Given the description of an element on the screen output the (x, y) to click on. 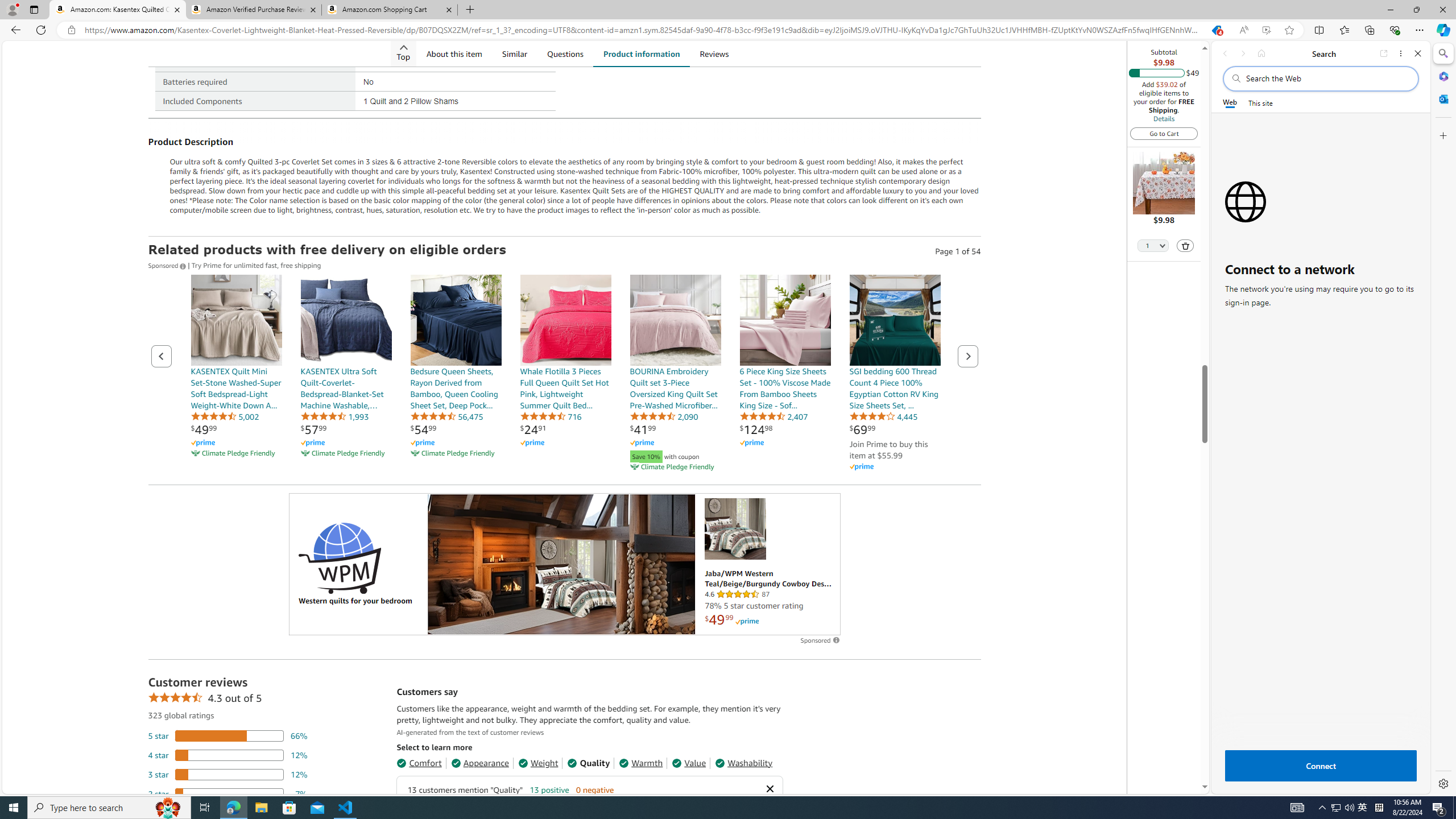
12 percent of reviews have 4 stars (227, 754)
1,993 (334, 416)
Enhance video (1266, 29)
Logo (339, 557)
Next page of related Sponsored Products (967, 355)
Quality (588, 762)
Questions (564, 53)
